Given the description of an element on the screen output the (x, y) to click on. 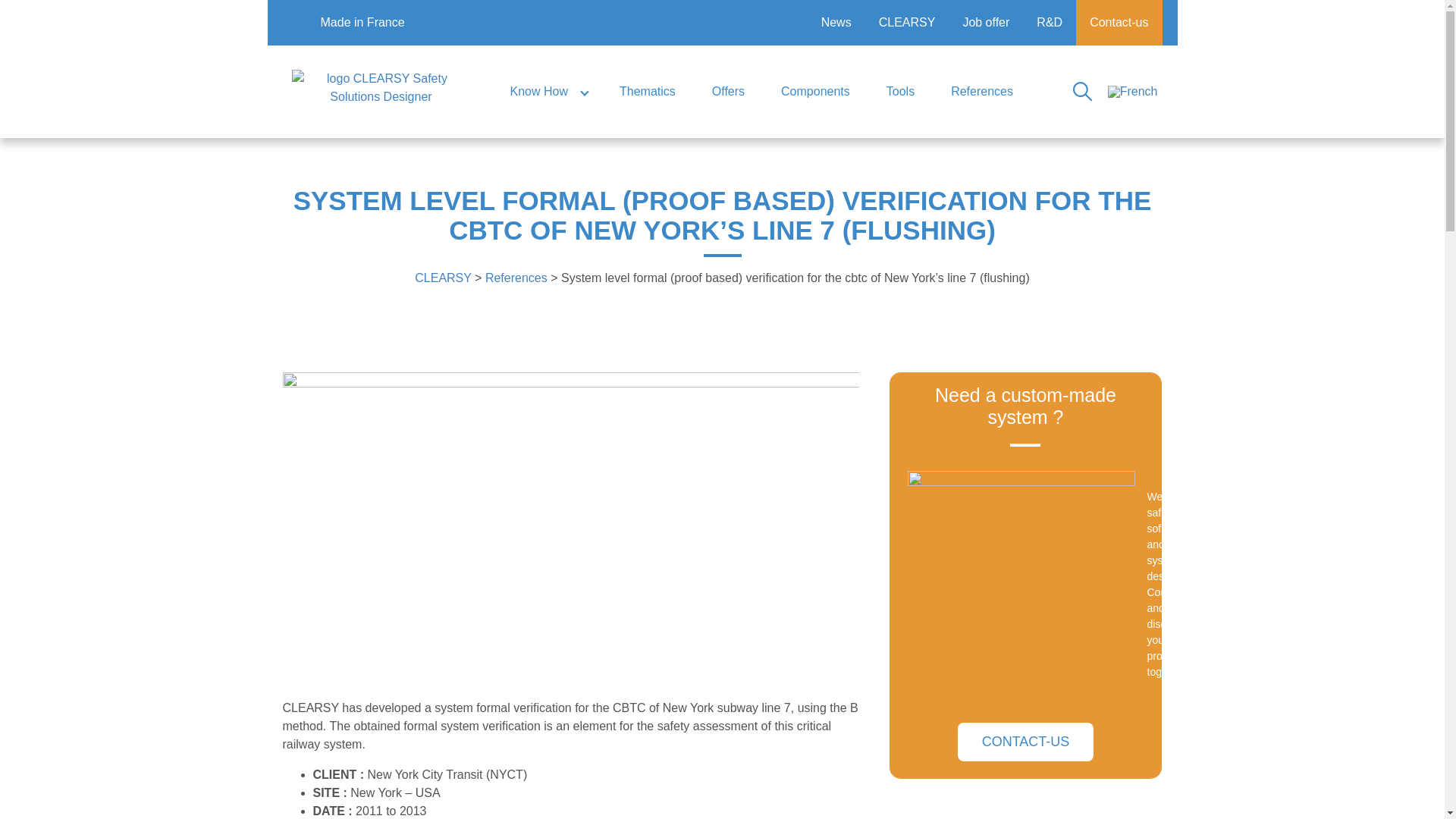
Job offer (986, 22)
Contact-us (1118, 22)
Go to References. (515, 277)
Know How (545, 91)
CLEARSY (906, 22)
News (836, 22)
Go to CLEARSY. (442, 277)
